Given the description of an element on the screen output the (x, y) to click on. 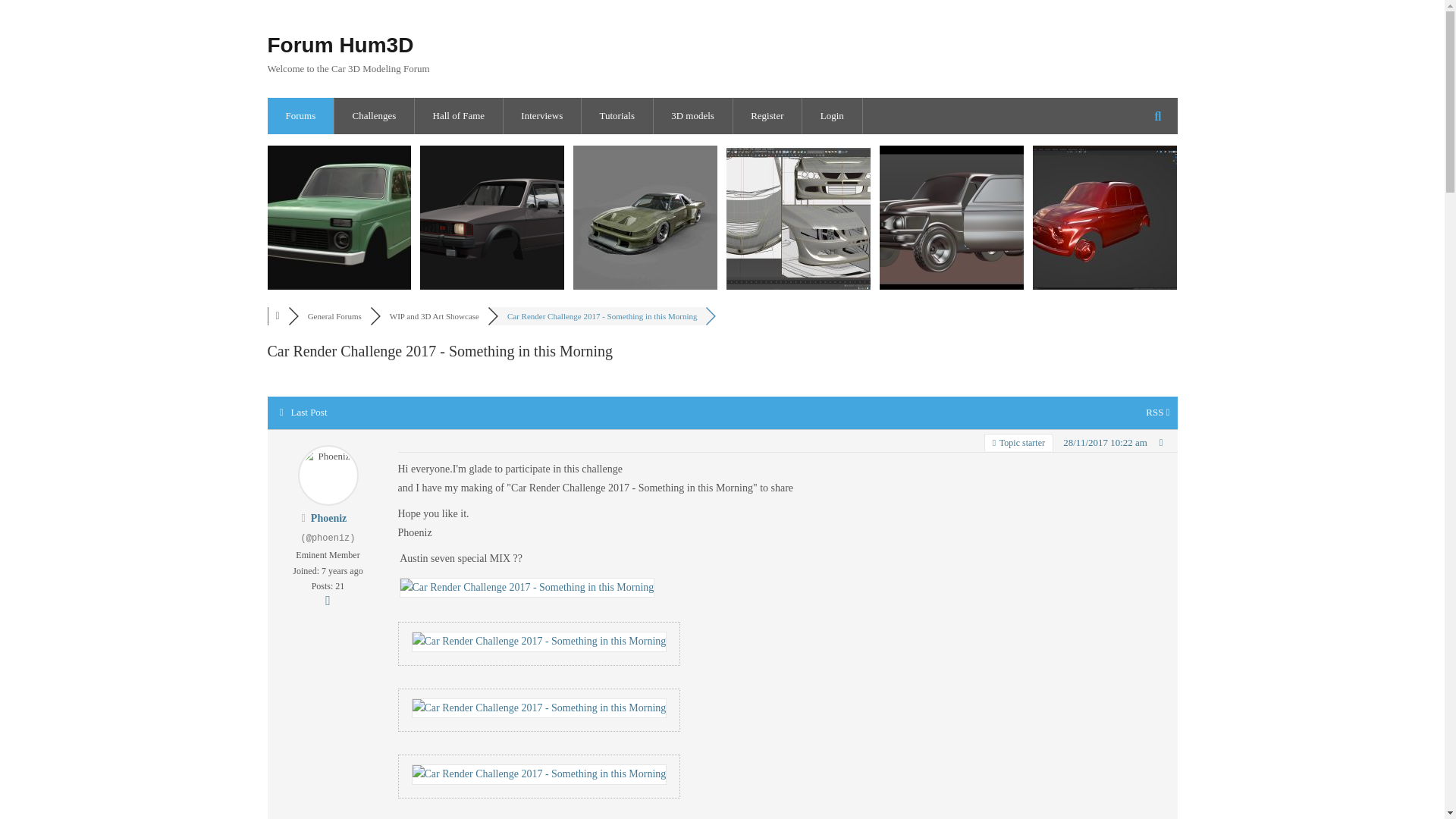
Challenges (373, 115)
WIP and 3D Art Showcase (434, 316)
Rating Title (327, 555)
Topic RSS Feed (1157, 411)
RSS (1157, 411)
Phoeniz (328, 518)
WIP and 3D Art Showcase (434, 316)
  Last Post (303, 411)
3D models (692, 115)
Forums (299, 115)
More (327, 600)
Hall of Fame (457, 115)
General Forums (334, 316)
Forum Hum3D (339, 44)
Login (831, 115)
